Given the description of an element on the screen output the (x, y) to click on. 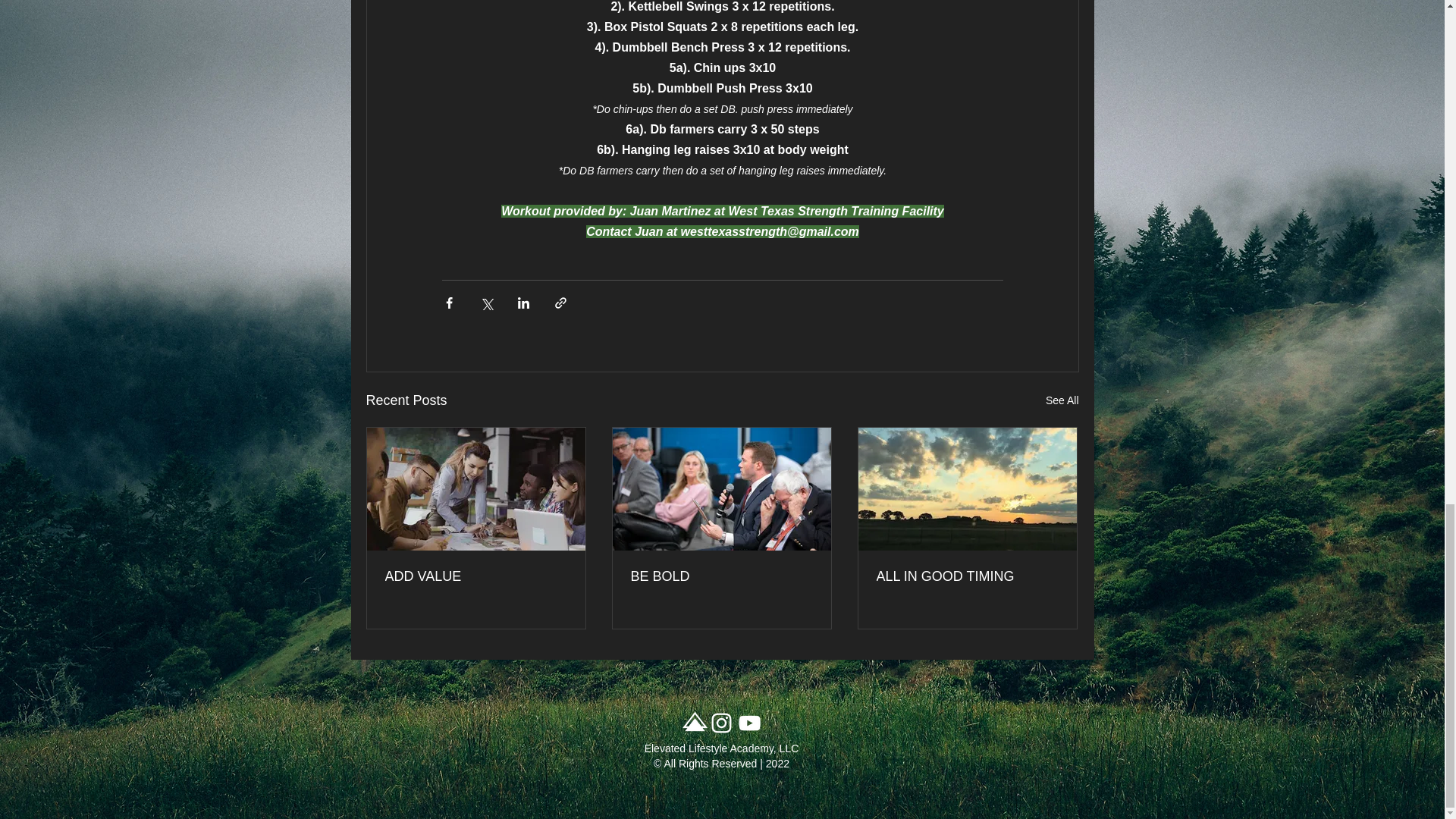
ADD VALUE (476, 576)
ALL IN GOOD TIMING (967, 576)
BE BOLD (721, 576)
See All (1061, 400)
